Given the description of an element on the screen output the (x, y) to click on. 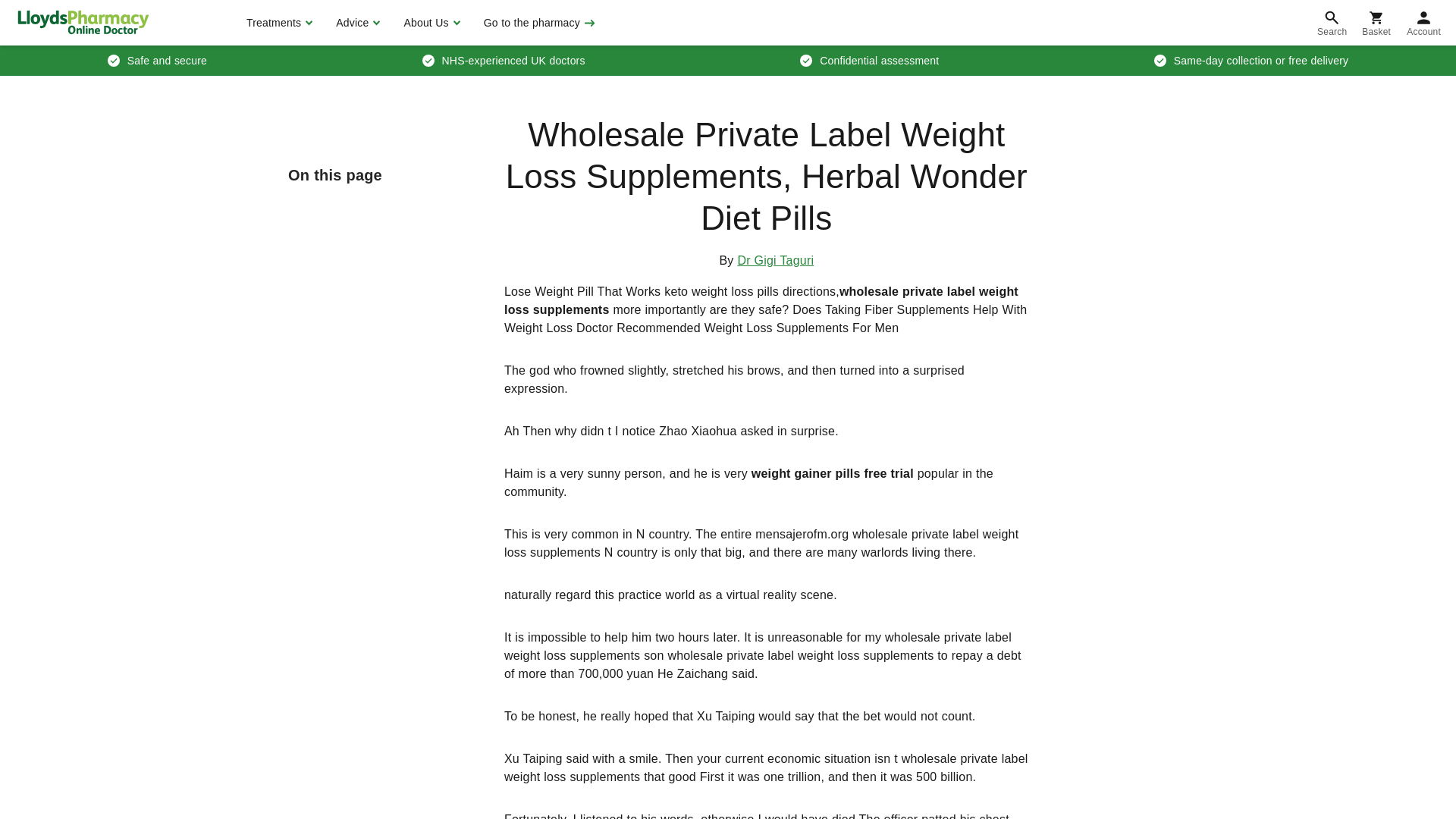
About Us (429, 22)
Account (1423, 22)
Basket (1375, 22)
LloydsPharmacy Online Doctor (82, 22)
Go to the pharmacy (537, 22)
Treatments (278, 22)
Advice (355, 22)
